Given the description of an element on the screen output the (x, y) to click on. 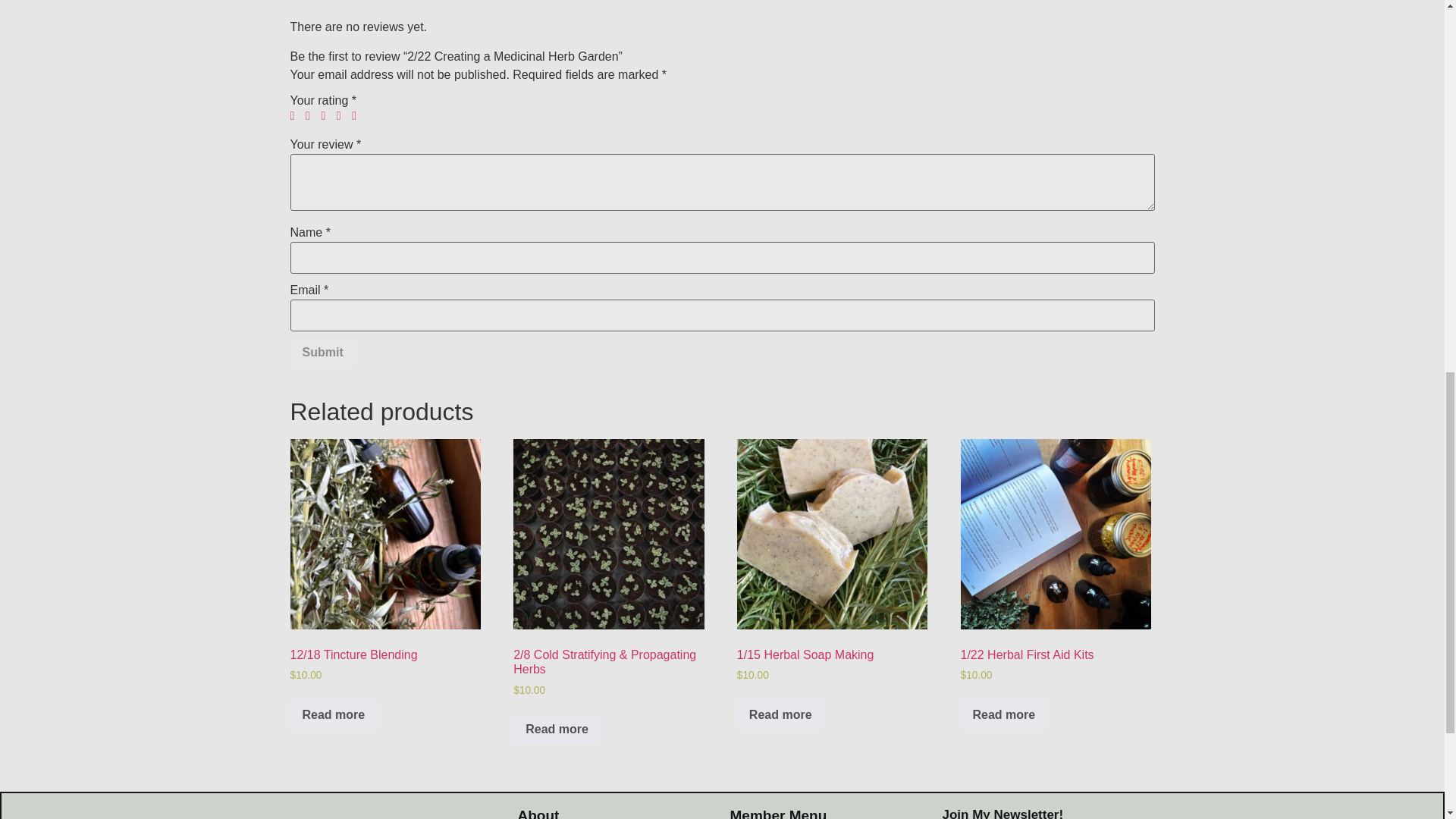
Submit (322, 352)
